Given the description of an element on the screen output the (x, y) to click on. 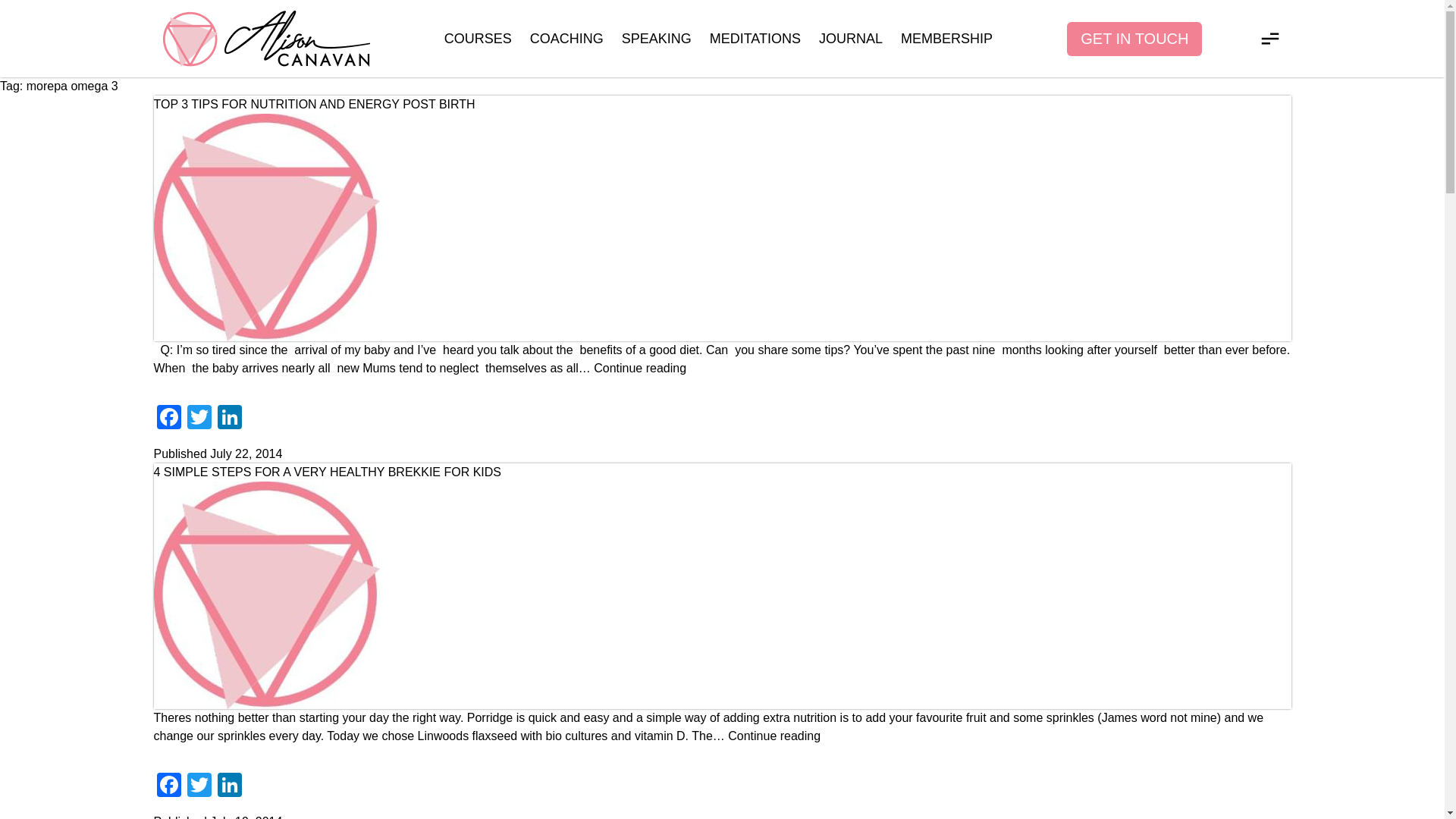
GET IN TOUCH (1134, 38)
Facebook (167, 786)
LinkedIn (229, 418)
LinkedIn (229, 786)
Twitter (198, 418)
COACHING (566, 37)
Twitter (198, 418)
MEDITATIONS (755, 37)
SPEAKING (656, 37)
Facebook (167, 418)
TOP 3 TIPS FOR NUTRITION AND ENERGY POST BIRTH (313, 103)
Facebook (167, 418)
MEMBERSHIP (946, 37)
LinkedIn (229, 418)
